Given the description of an element on the screen output the (x, y) to click on. 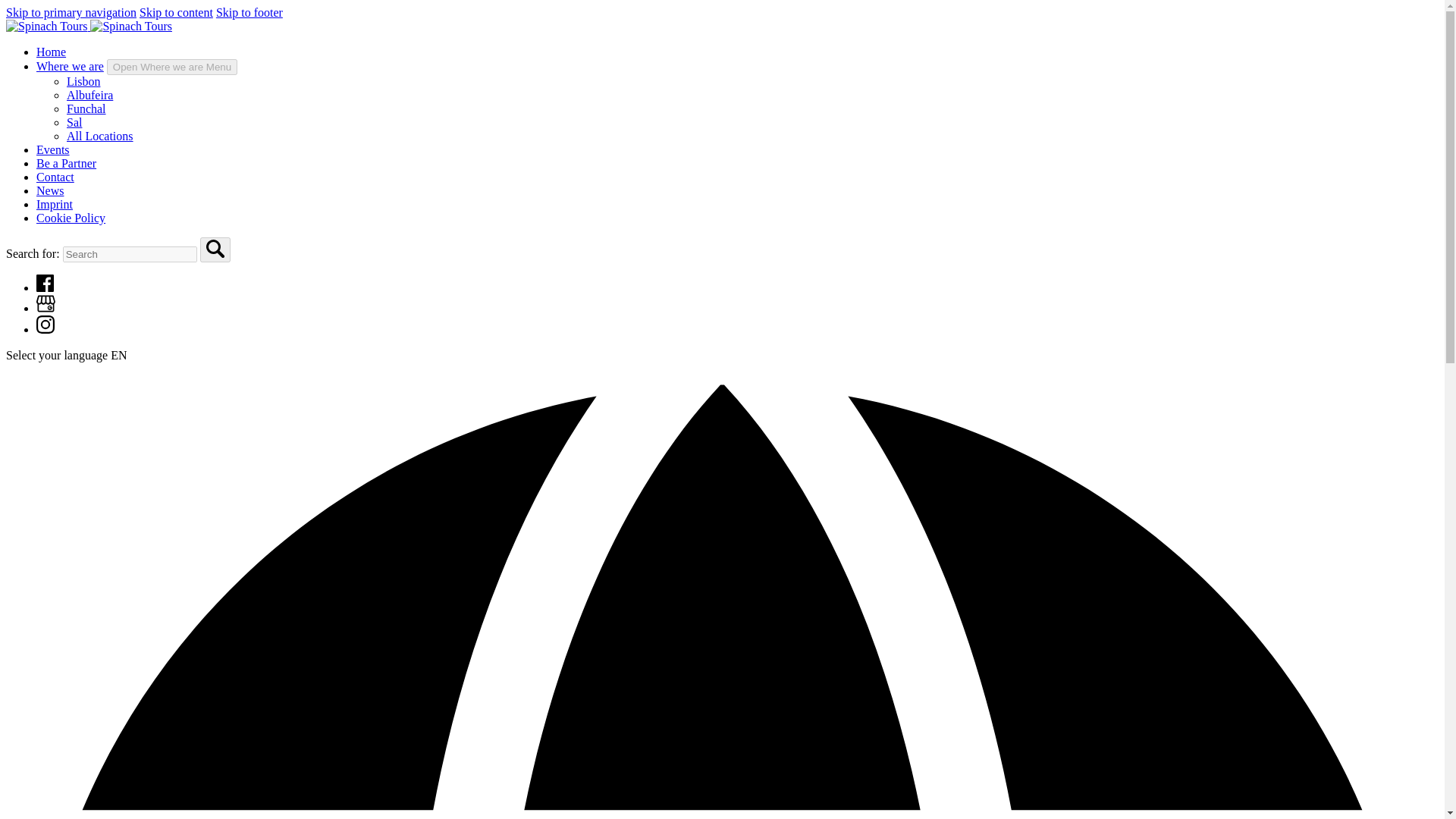
Search (215, 248)
Open Where we are Menu (171, 66)
Imprint (54, 204)
Funchal (86, 108)
All Locations (99, 135)
Albufeira (89, 94)
Visit our Google My Business Profile (45, 308)
Facebook (44, 282)
Events (52, 149)
Skip to footer (248, 11)
Search (215, 249)
Skip to primary navigation (70, 11)
News (50, 190)
Contact (55, 176)
Sal (73, 122)
